Given the description of an element on the screen output the (x, y) to click on. 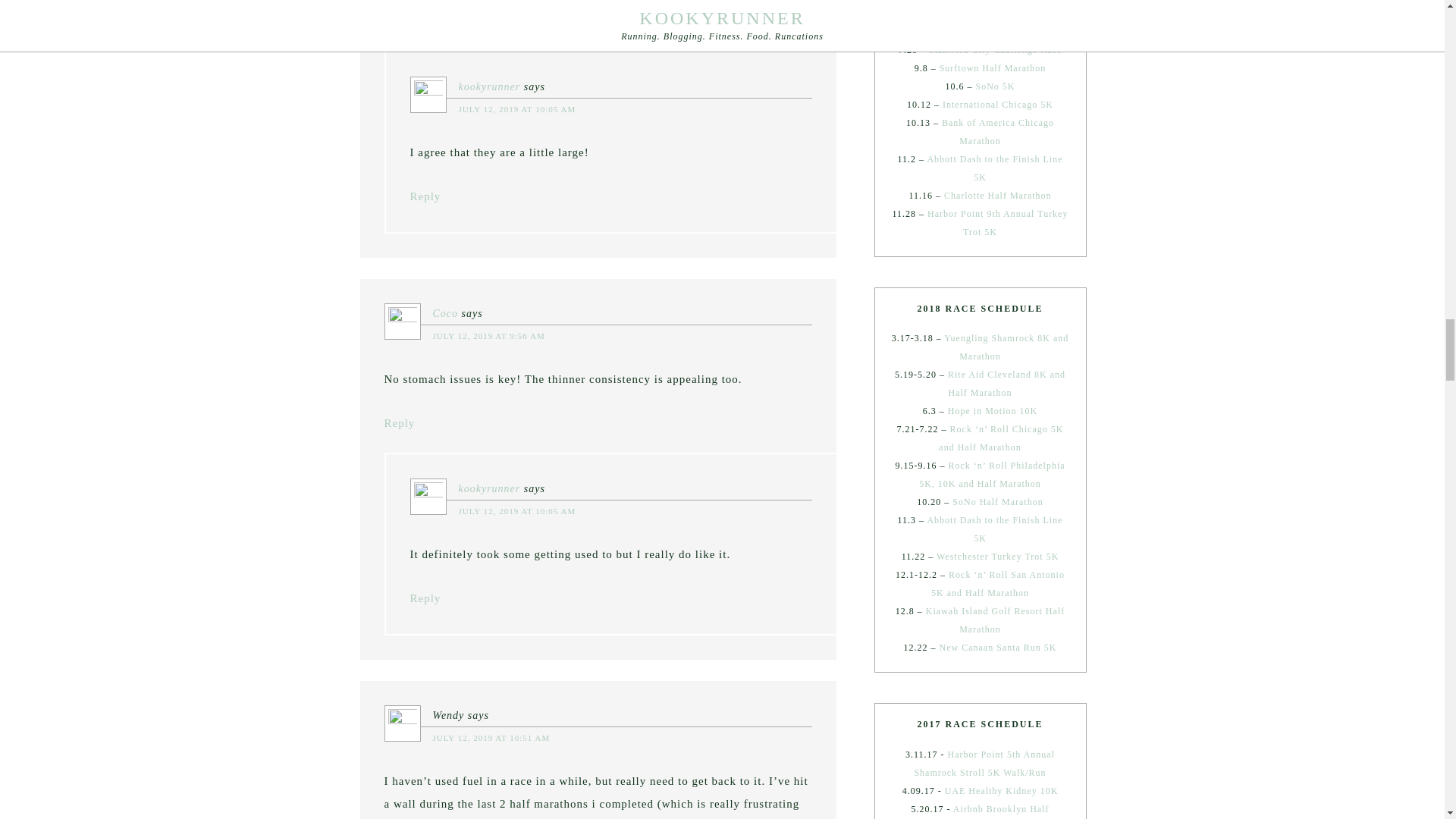
kookyrunner (488, 86)
JULY 12, 2019 AT 10:05 AM (516, 108)
Coco (445, 313)
Reply (399, 21)
Reply (425, 196)
JULY 12, 2019 AT 9:56 AM (488, 335)
